Given the description of an element on the screen output the (x, y) to click on. 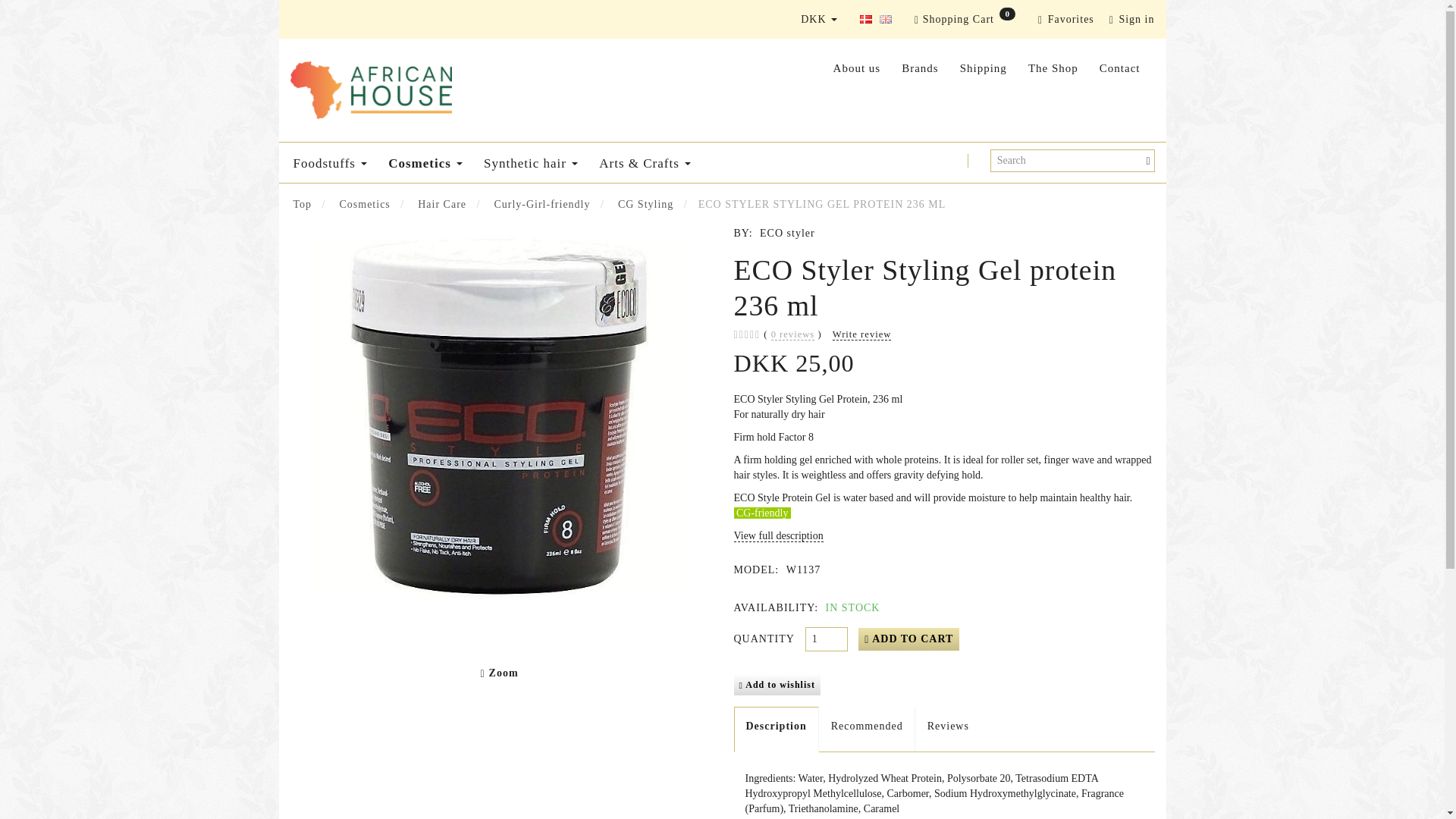
Sign in (1131, 20)
Shipping (983, 68)
Favorites (1066, 20)
Login (1131, 20)
Shopping Cart 0 (964, 20)
1 (826, 639)
In stock (850, 607)
The Shop (1053, 68)
Foodstuffs (329, 162)
About us (856, 68)
